Given the description of an element on the screen output the (x, y) to click on. 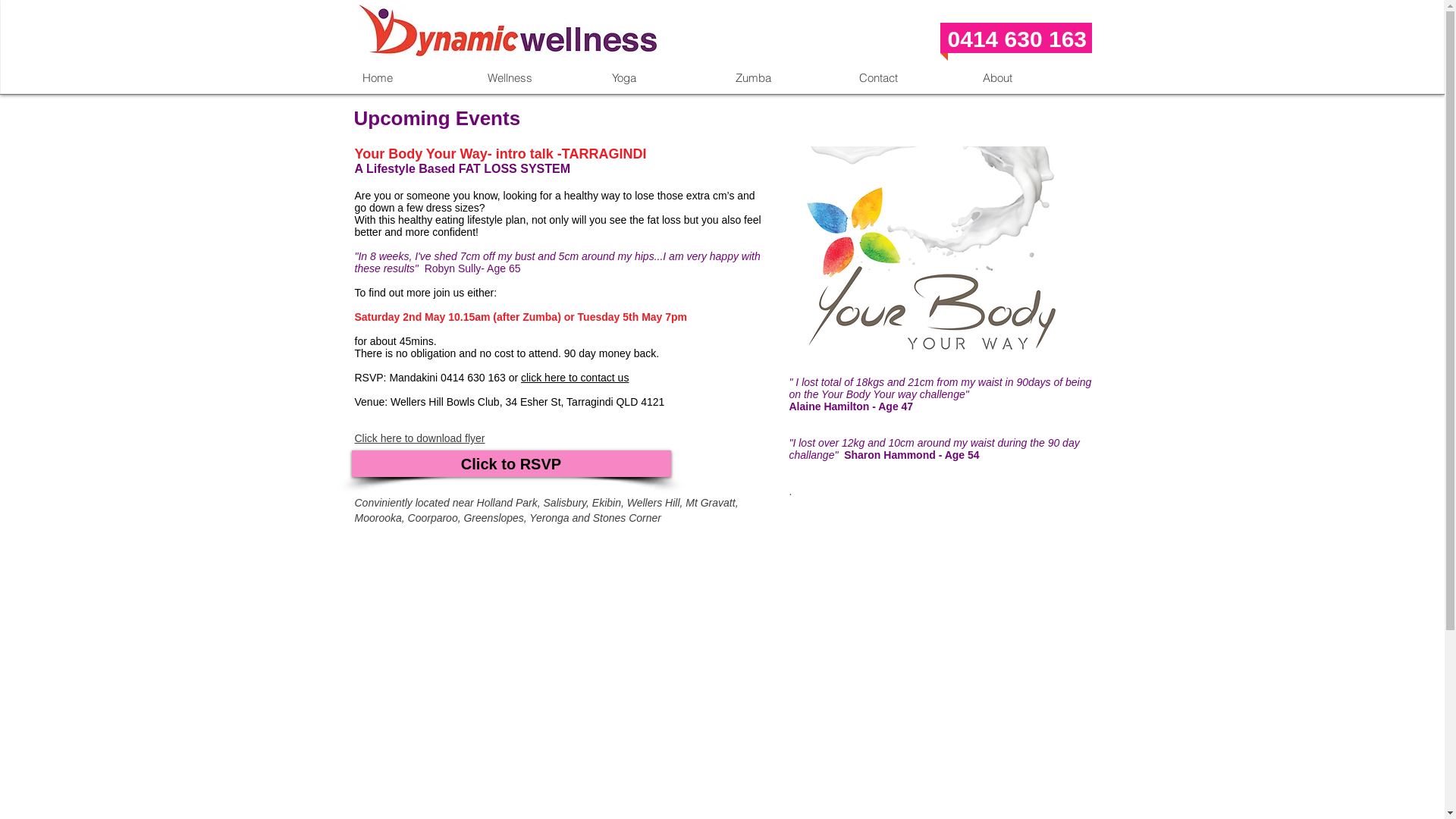
0414 630 163 Element type: text (1017, 38)
Yoga Element type: text (660, 77)
large logo with milk.png Element type: hover (936, 254)
About Element type: text (1032, 77)
Contact Element type: text (907, 77)
click here to contact us Element type: text (574, 377)
Click here to download flyer Element type: text (419, 438)
Zumba Element type: text (785, 77)
Wellness Element type: text (536, 77)
  Element type: text (945, 41)
Click to RSVP Element type: text (511, 463)
DW_Logo_One_Line_02_CMYK.jpg Element type: hover (506, 29)
Home Element type: text (412, 77)
